Given the description of an element on the screen output the (x, y) to click on. 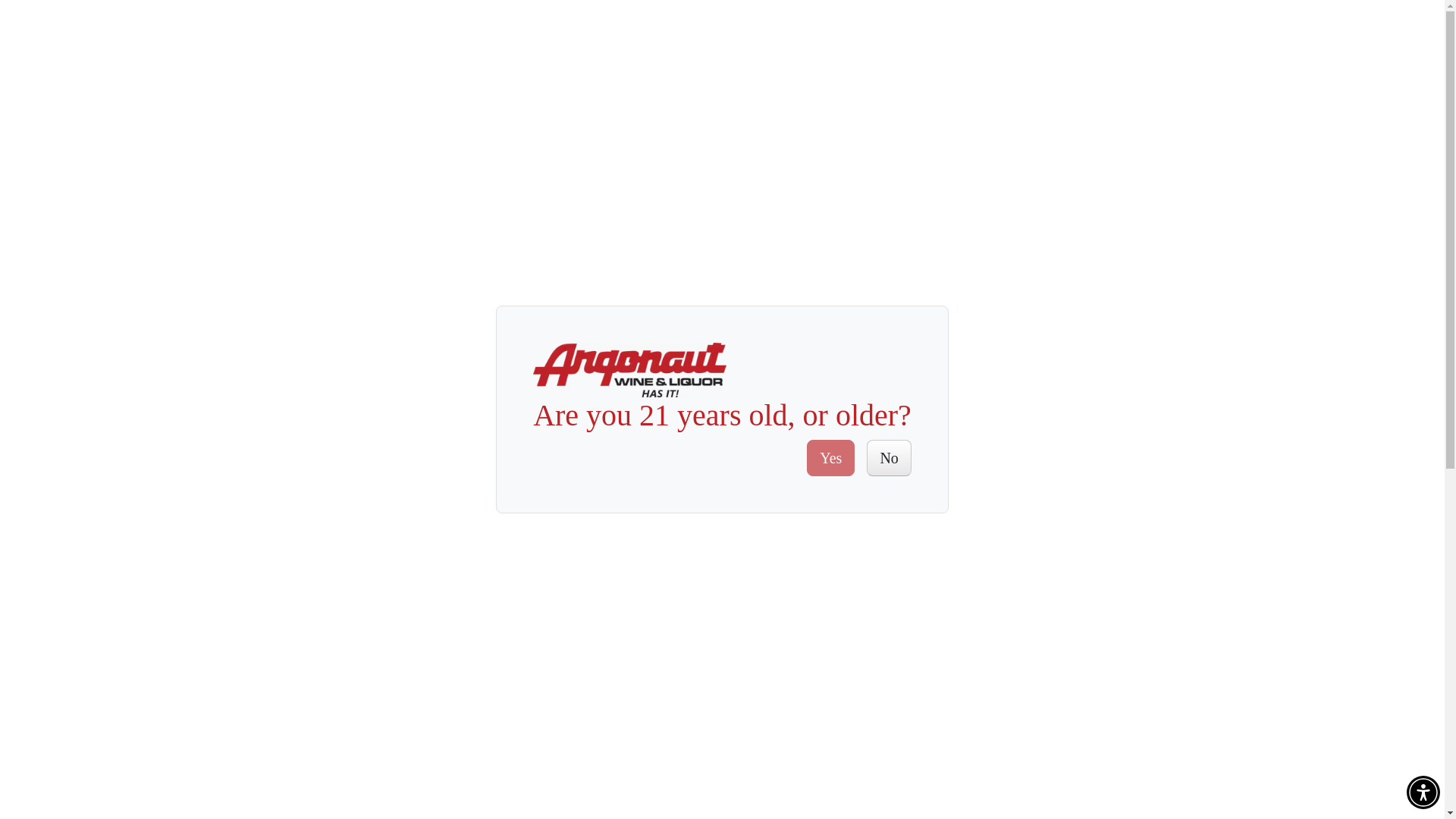
CONTACT US (1022, 31)
Beer Advocate 53 point rating. (753, 238)
Accessibility Menu (1422, 792)
Beer Advocate 53 point rating. (763, 743)
HOURS (640, 126)
WINE (714, 126)
